Given the description of an element on the screen output the (x, y) to click on. 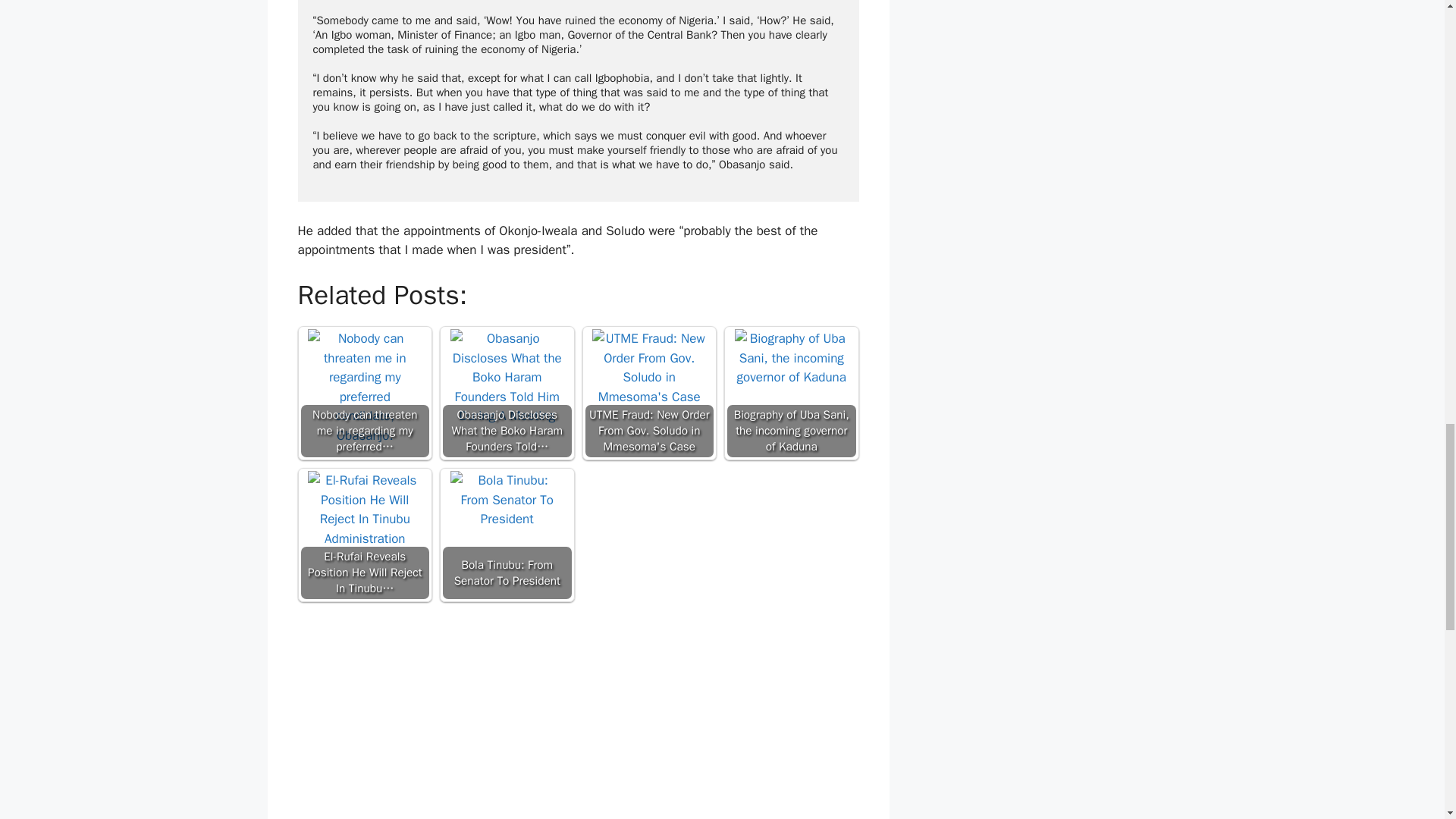
Bola Tinubu: From Senator To President (507, 60)
Post Comment (354, 700)
Post Comment (354, 700)
yes (302, 653)
LatestNews (343, 167)
Bola Tinubu: From Senator To President (506, 52)
Latest News (344, 151)
News (393, 151)
Trending Post (446, 151)
